Given the description of an element on the screen output the (x, y) to click on. 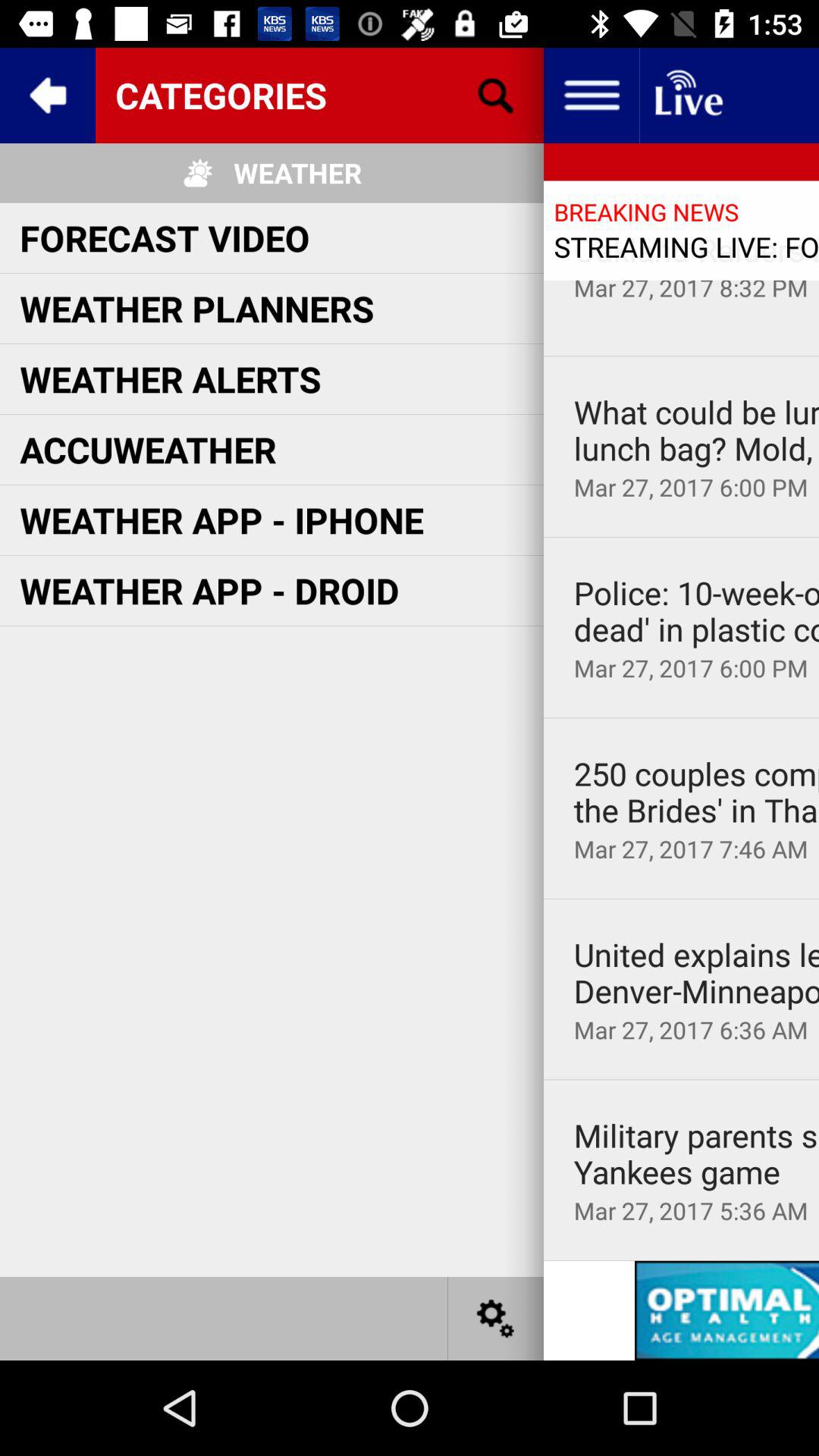
choose accuweather icon (147, 449)
